Given the description of an element on the screen output the (x, y) to click on. 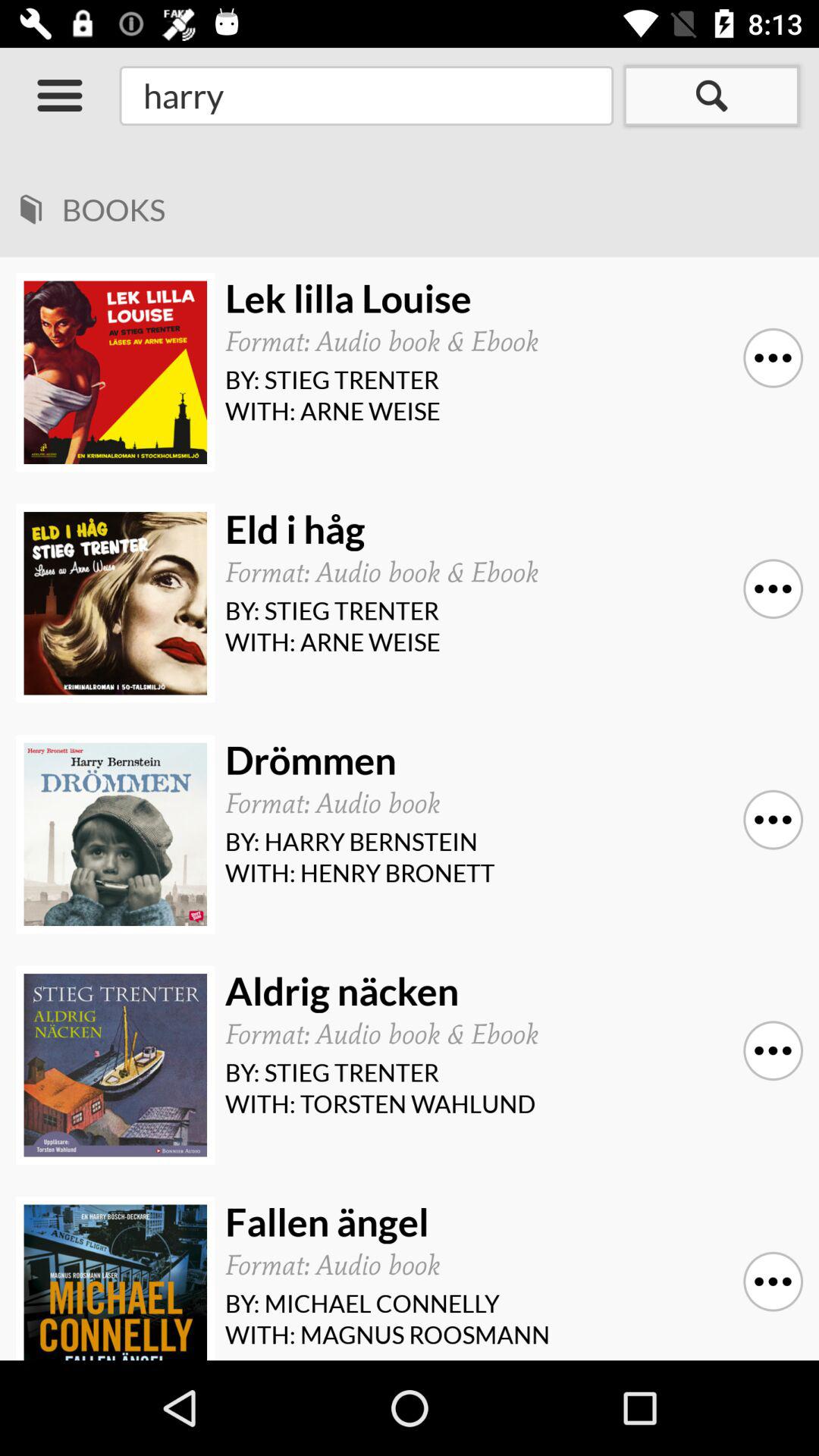
press item next to books item (30, 204)
